Given the description of an element on the screen output the (x, y) to click on. 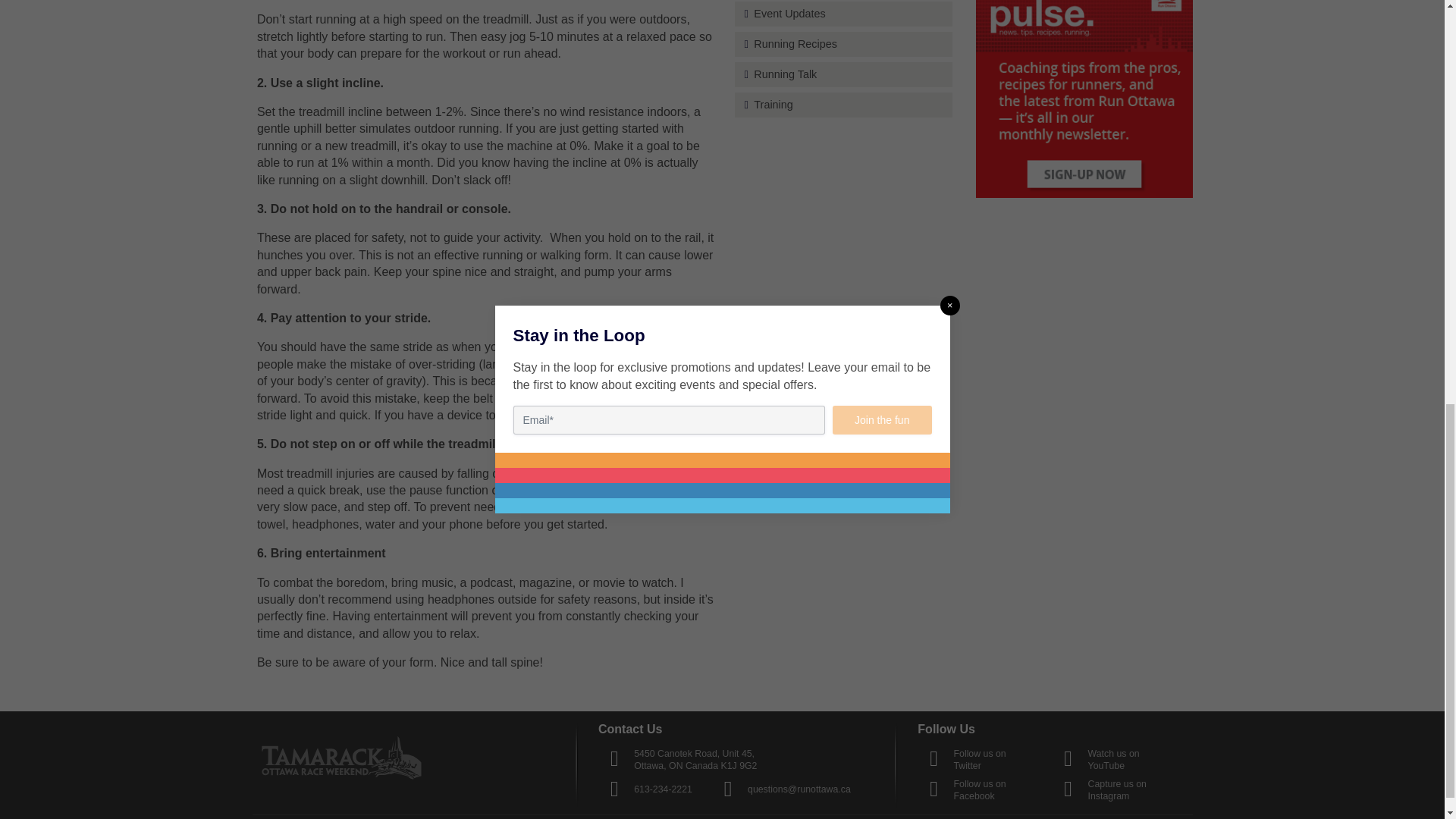
Sign-up for the Pulse (1083, 99)
